Given the description of an element on the screen output the (x, y) to click on. 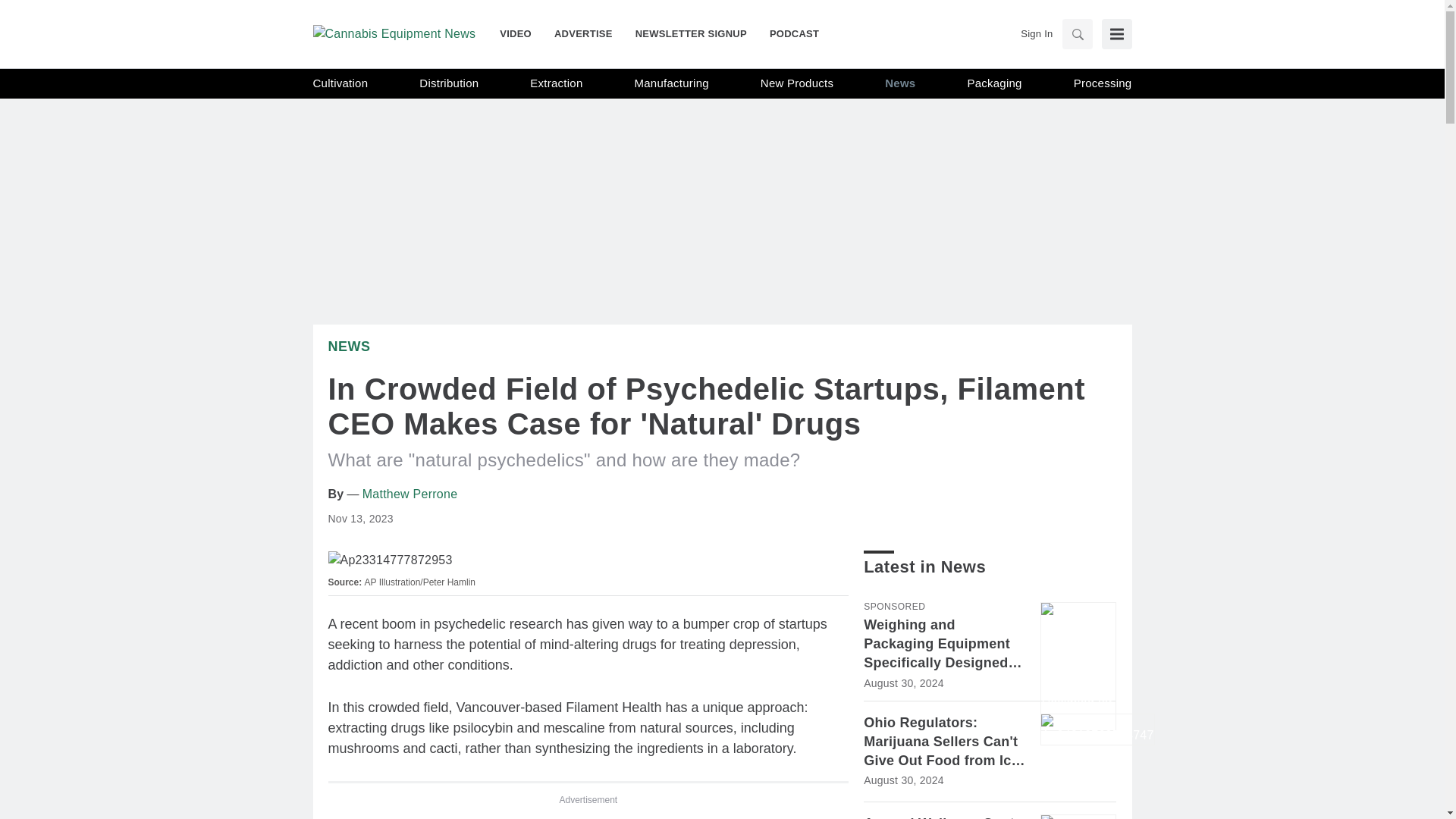
PODCAST (788, 33)
Packaging (994, 83)
News (348, 346)
News (900, 83)
NEWSLETTER SIGNUP (691, 33)
Processing (1103, 83)
ADVERTISE (583, 33)
Distribution (449, 83)
Manufacturing (671, 83)
Extraction (555, 83)
